Given the description of an element on the screen output the (x, y) to click on. 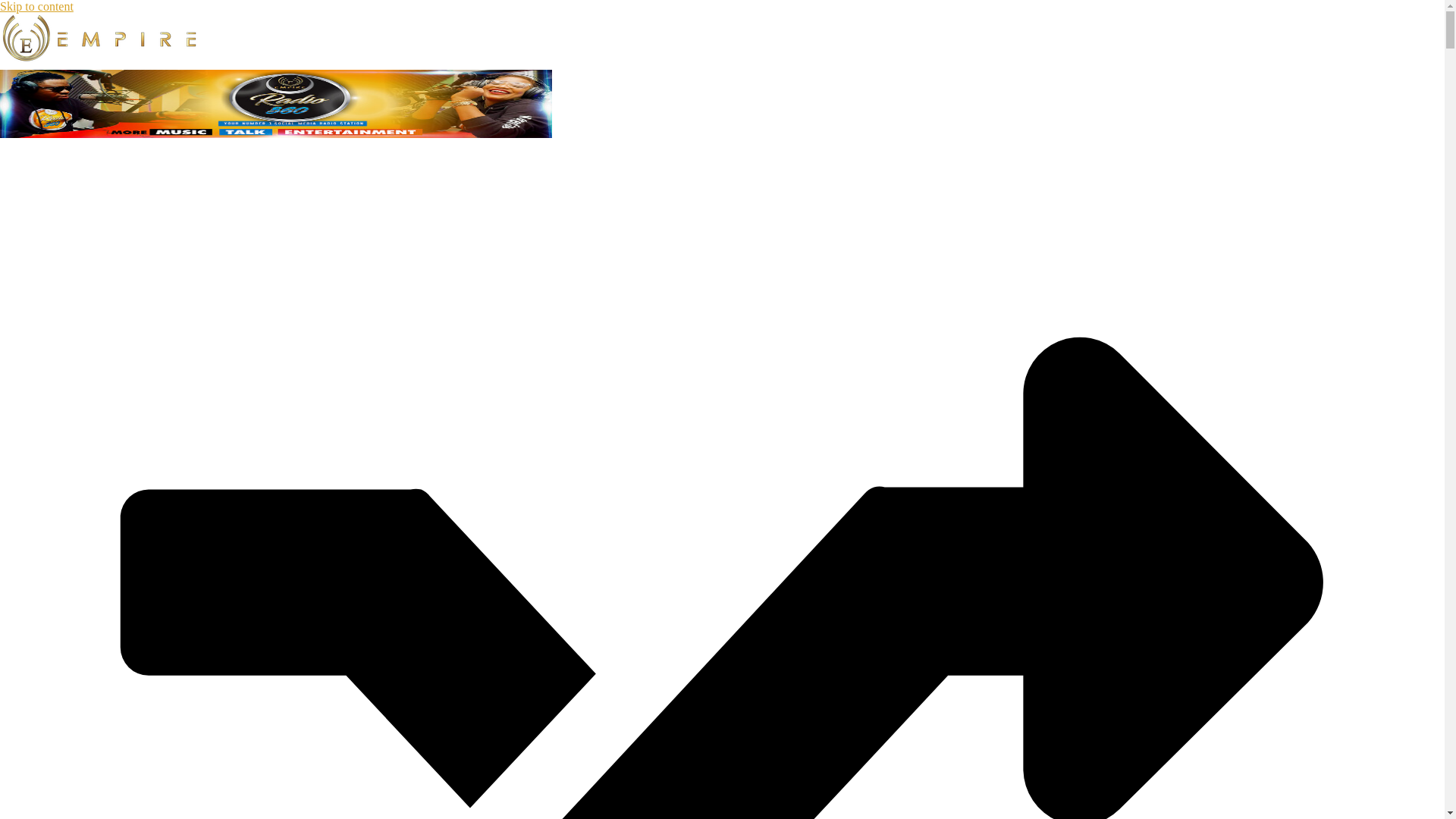
Skip to content (37, 6)
